Given the description of an element on the screen output the (x, y) to click on. 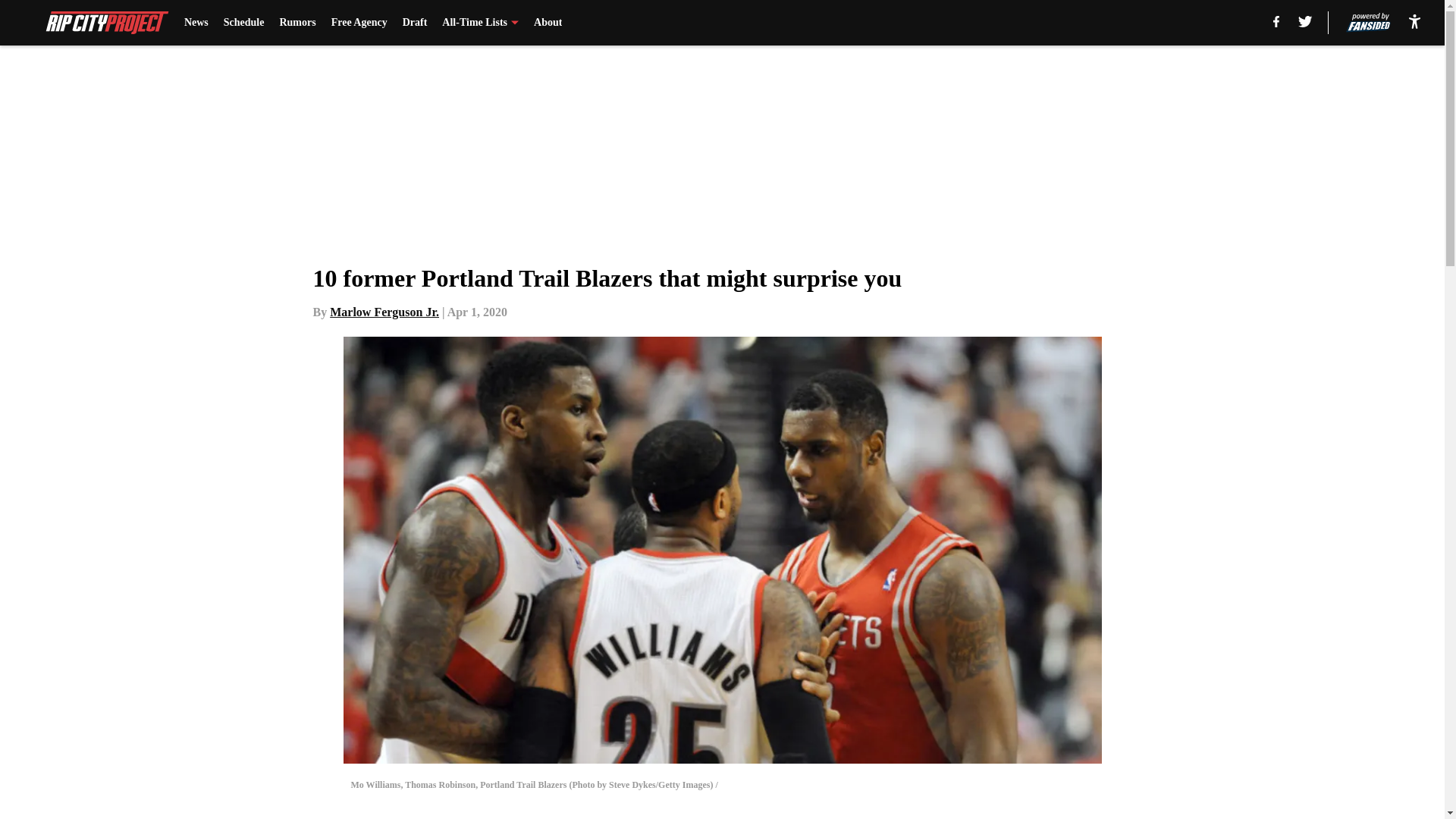
Marlow Ferguson Jr. (384, 311)
News (196, 22)
Free Agency (359, 22)
All-Time Lists (480, 22)
Rumors (297, 22)
About (548, 22)
Draft (415, 22)
Schedule (244, 22)
